Given the description of an element on the screen output the (x, y) to click on. 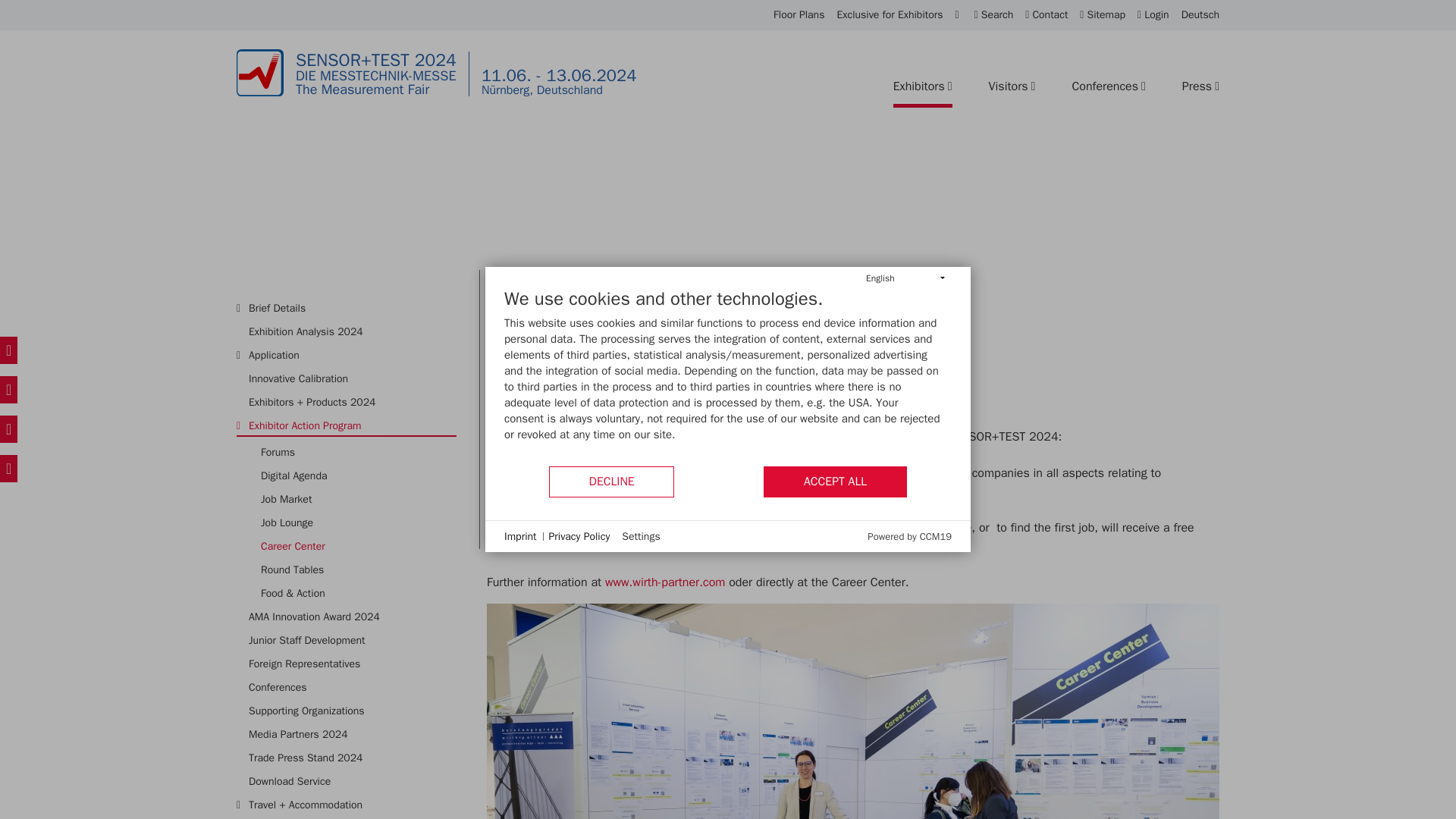
Sitemap (1102, 15)
Search (993, 15)
Deutsch (1200, 15)
Exclusive for Exhibitors (888, 15)
Contact (1046, 15)
Exhibitors (922, 86)
Sitemap (1102, 15)
Floor Plans 2024 (798, 15)
Exclusive for Exhibitors (888, 15)
Floor Plans (798, 15)
